Given the description of an element on the screen output the (x, y) to click on. 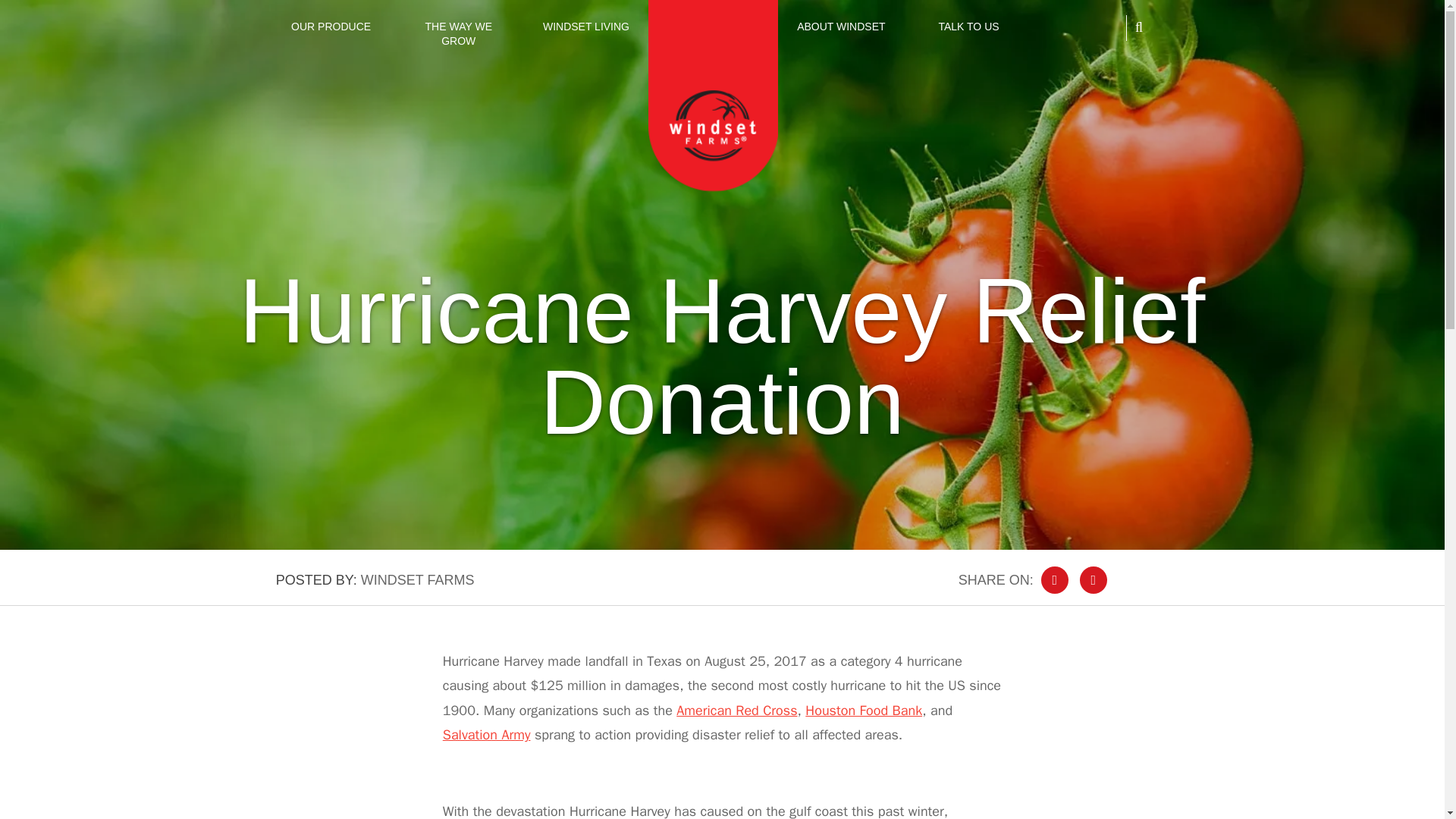
TALK TO US (967, 26)
WINDSET LIVING (586, 26)
ABOUT WINDSET (840, 26)
THE WAY WE GROW (458, 34)
FRESH THINKING (713, 26)
OUR PRODUCE (330, 26)
Search (1123, 60)
